Given the description of an element on the screen output the (x, y) to click on. 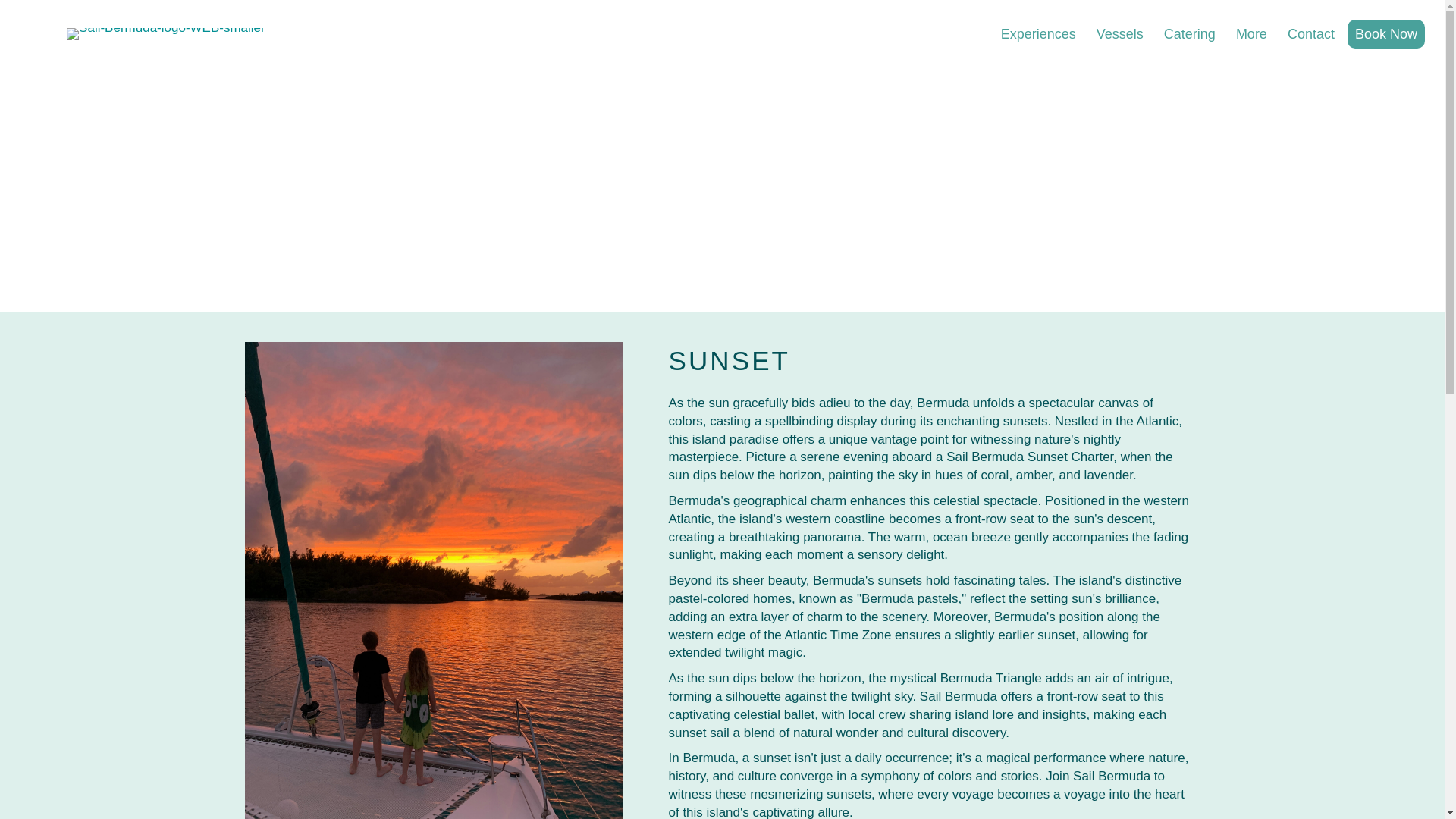
Experiences (1037, 33)
Catering (1189, 33)
More (1251, 33)
Book Now (1386, 33)
Contact (1310, 33)
Sail-Bermuda-logo-WEB-smaller (165, 33)
Vessels (1120, 33)
